Given the description of an element on the screen output the (x, y) to click on. 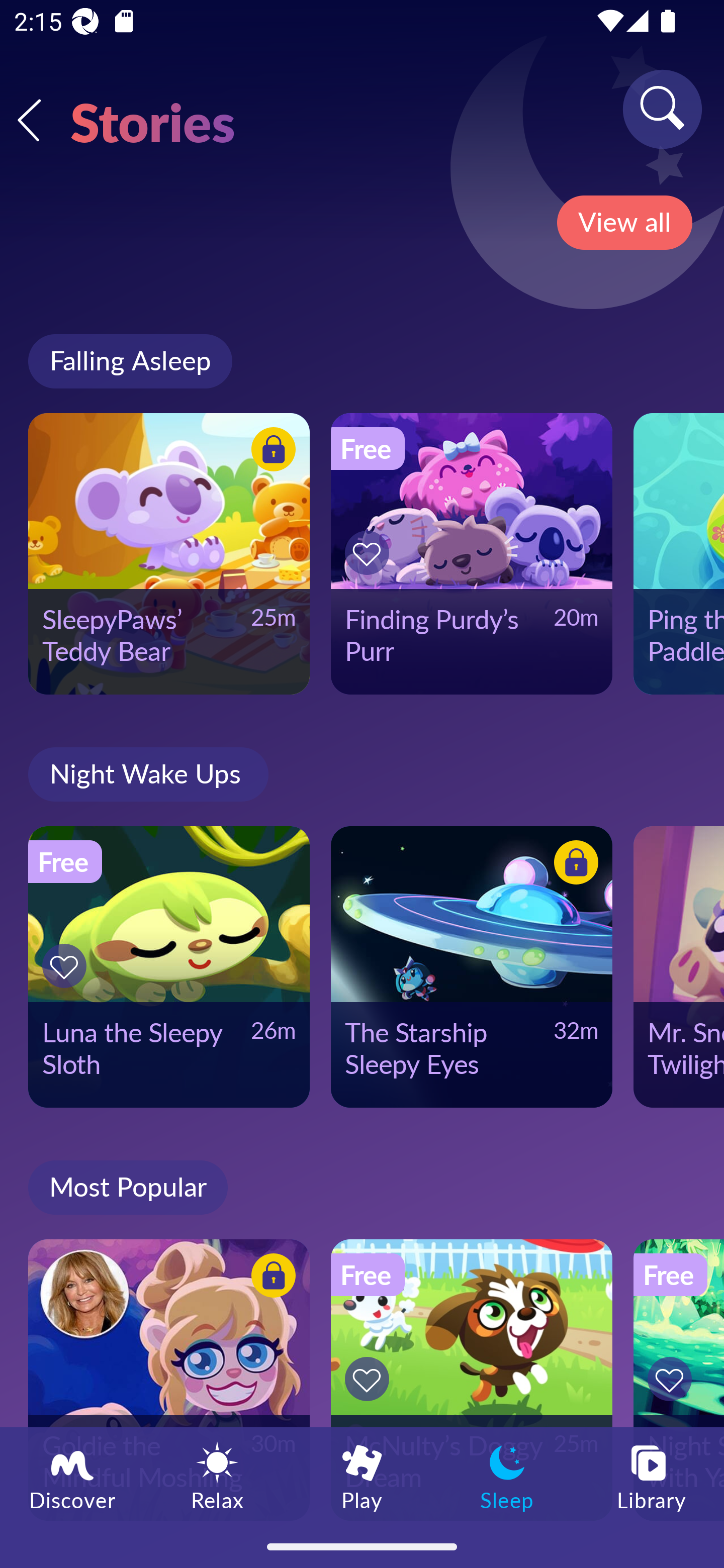
View all (624, 222)
Button (269, 451)
Button (369, 552)
Button (573, 865)
Button (67, 965)
Button (269, 1277)
Button (369, 1378)
Button (672, 1378)
Discover (72, 1475)
Relax (216, 1475)
Play (361, 1475)
Library (651, 1475)
